Given the description of an element on the screen output the (x, y) to click on. 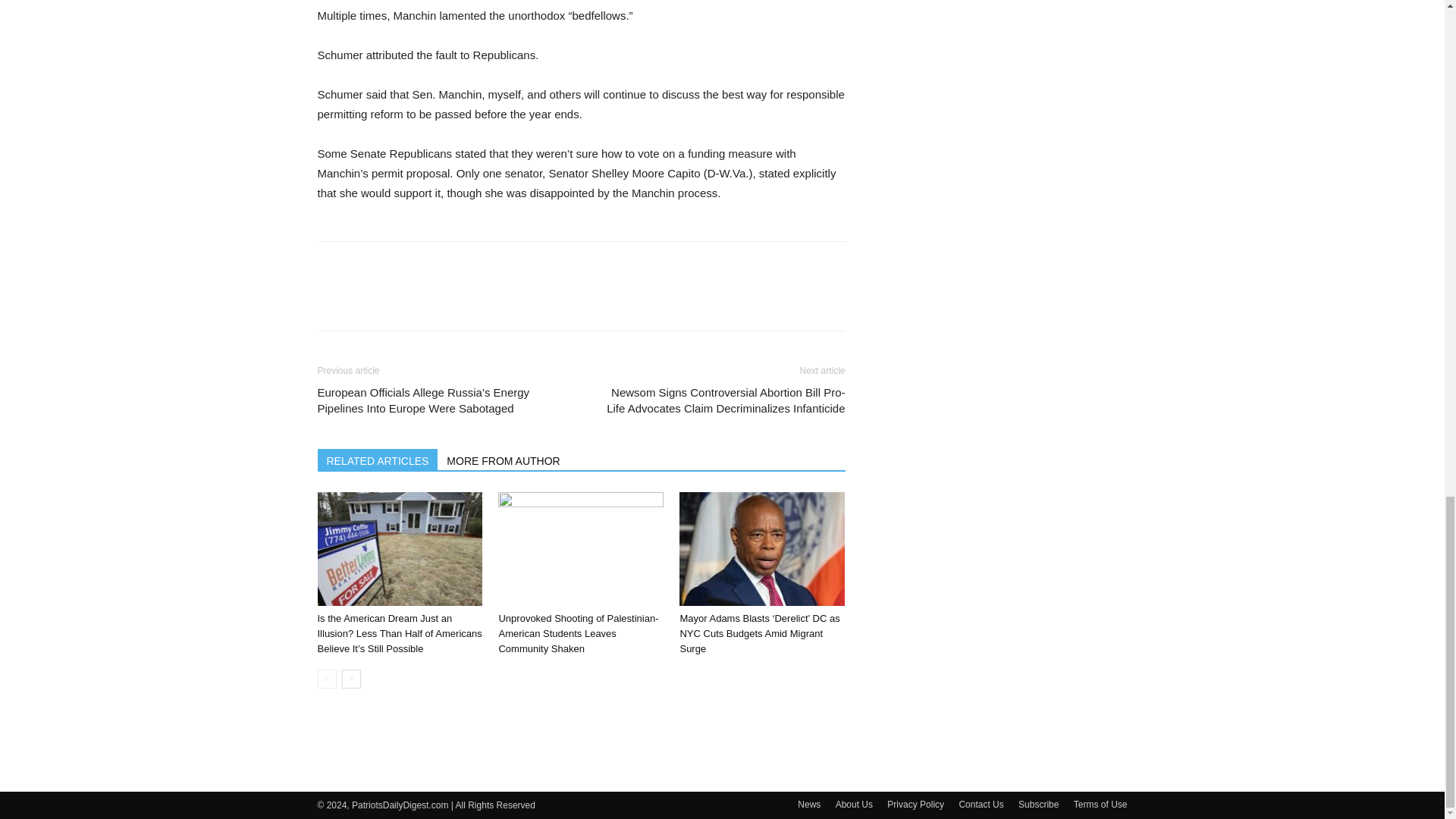
RELATED ARTICLES (377, 459)
